Given the description of an element on the screen output the (x, y) to click on. 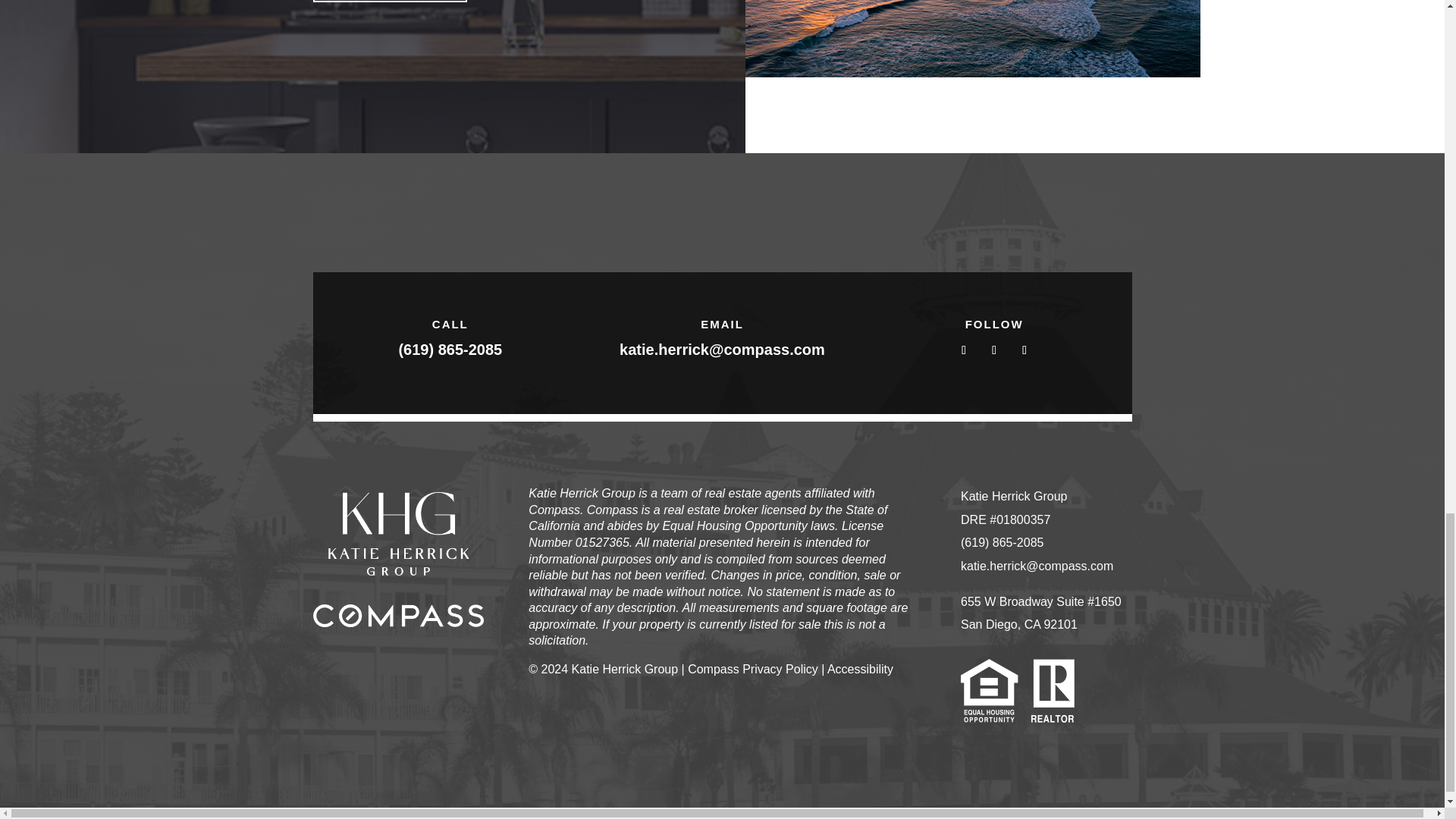
Compass Logo White (398, 615)
Cardiff-Sunset (972, 38)
Follow on Facebook (963, 350)
Follow on Instagram (993, 350)
Accessibility (860, 668)
Fair Housing Logos (1017, 690)
KHG Logo White (398, 533)
Follow on LinkedIn (1023, 350)
